Given the description of an element on the screen output the (x, y) to click on. 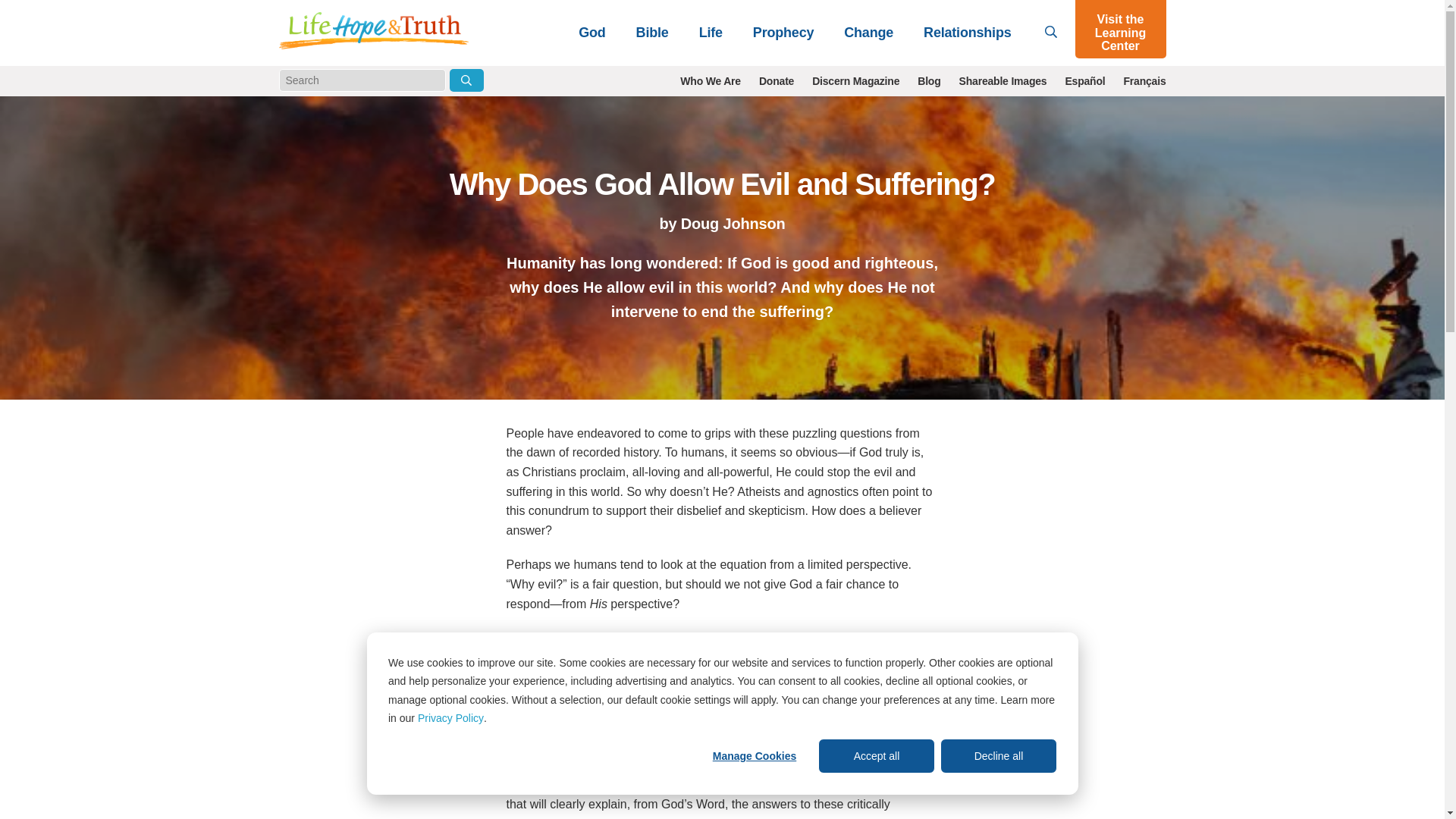
God (591, 32)
Life (711, 32)
Bible (652, 32)
